Given the description of an element on the screen output the (x, y) to click on. 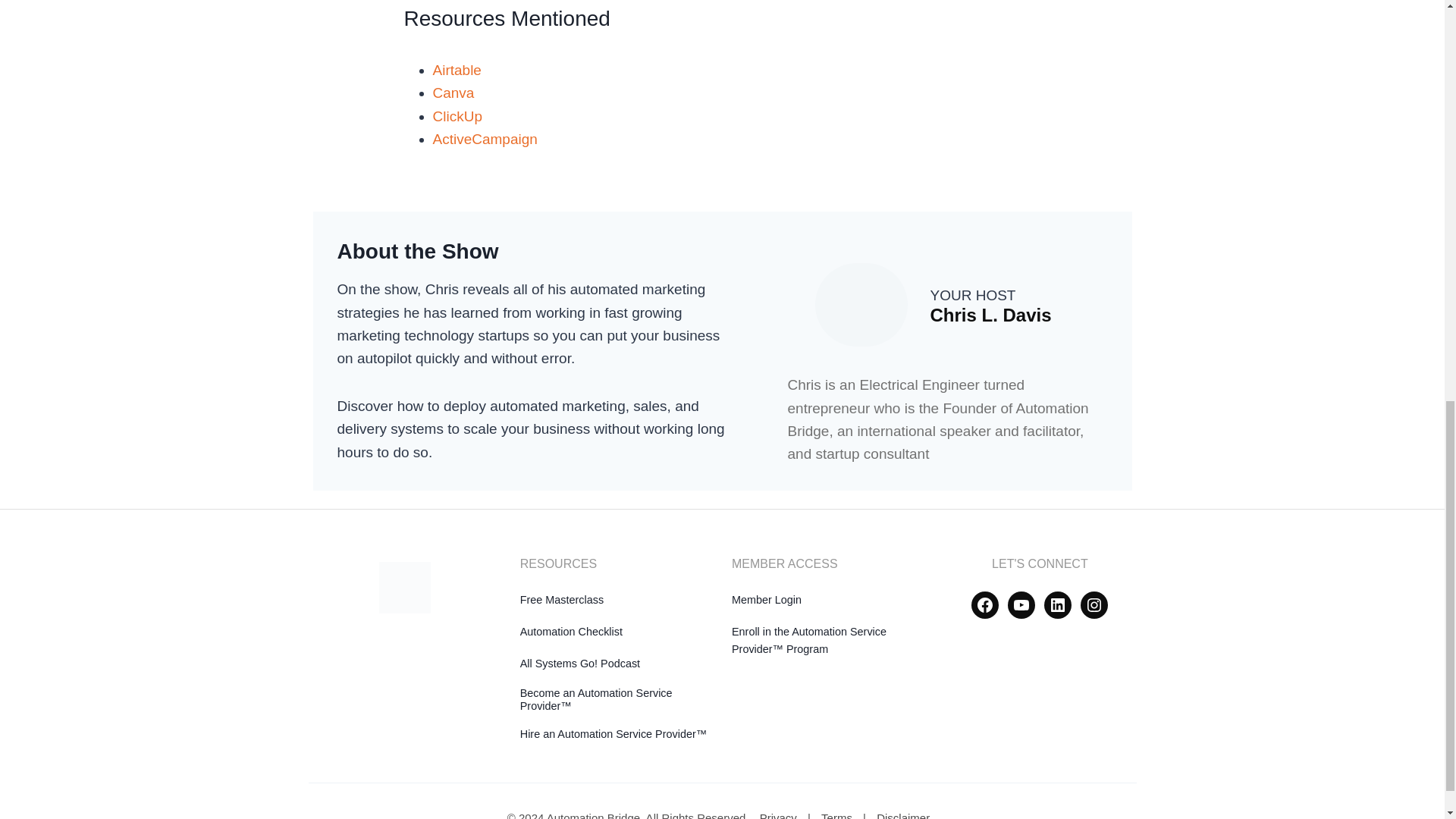
Canva (453, 92)
Free Masterclass (561, 599)
ClickUp (456, 115)
Disclaimer (903, 815)
Privacy (778, 815)
Automation Checklist (571, 631)
Terms (836, 815)
Airtable (456, 69)
ActiveCampaign (484, 139)
All Systems Go! Podcast (579, 663)
